Given the description of an element on the screen output the (x, y) to click on. 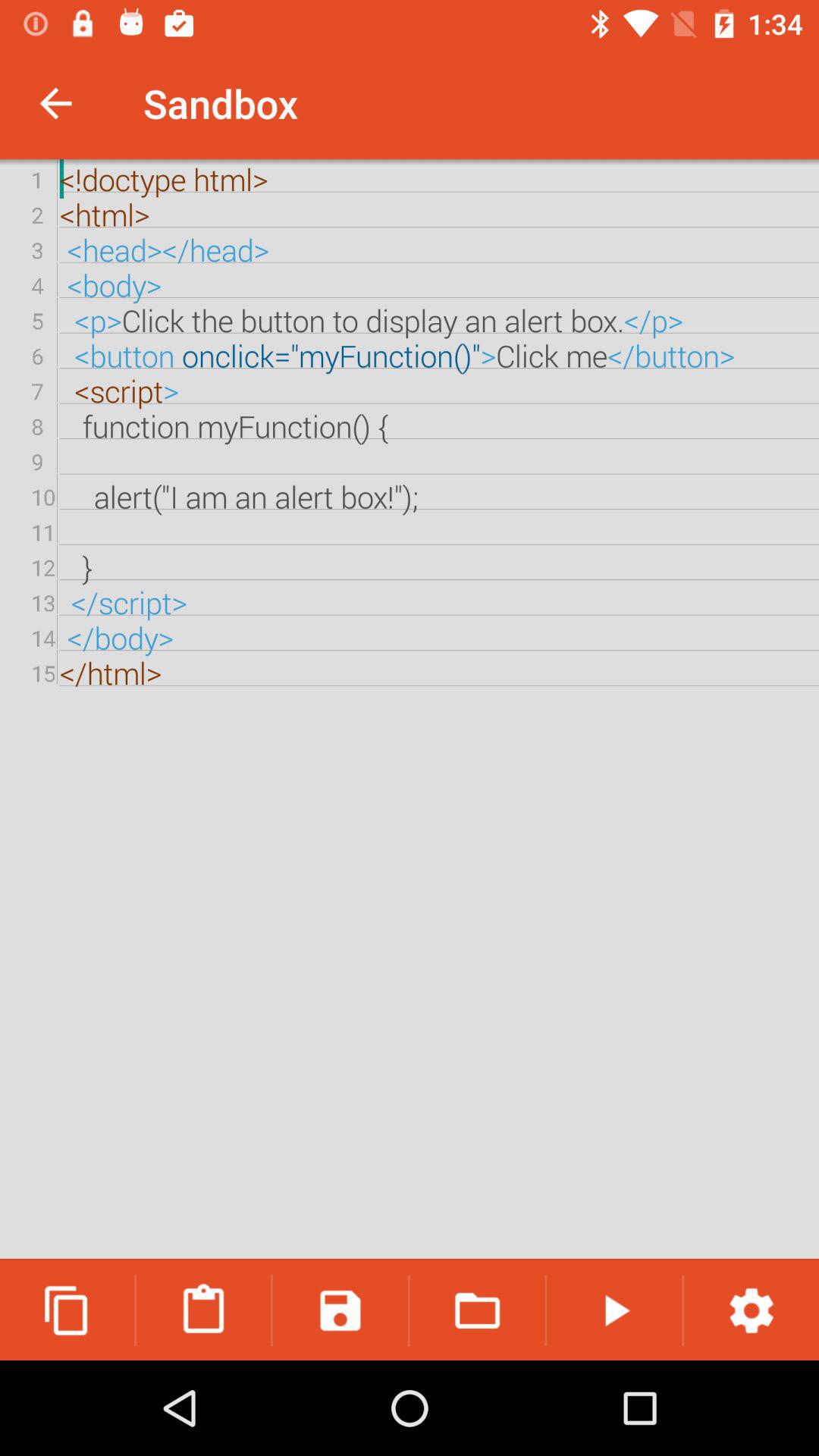
select icon below the doctype html html (614, 1310)
